Given the description of an element on the screen output the (x, y) to click on. 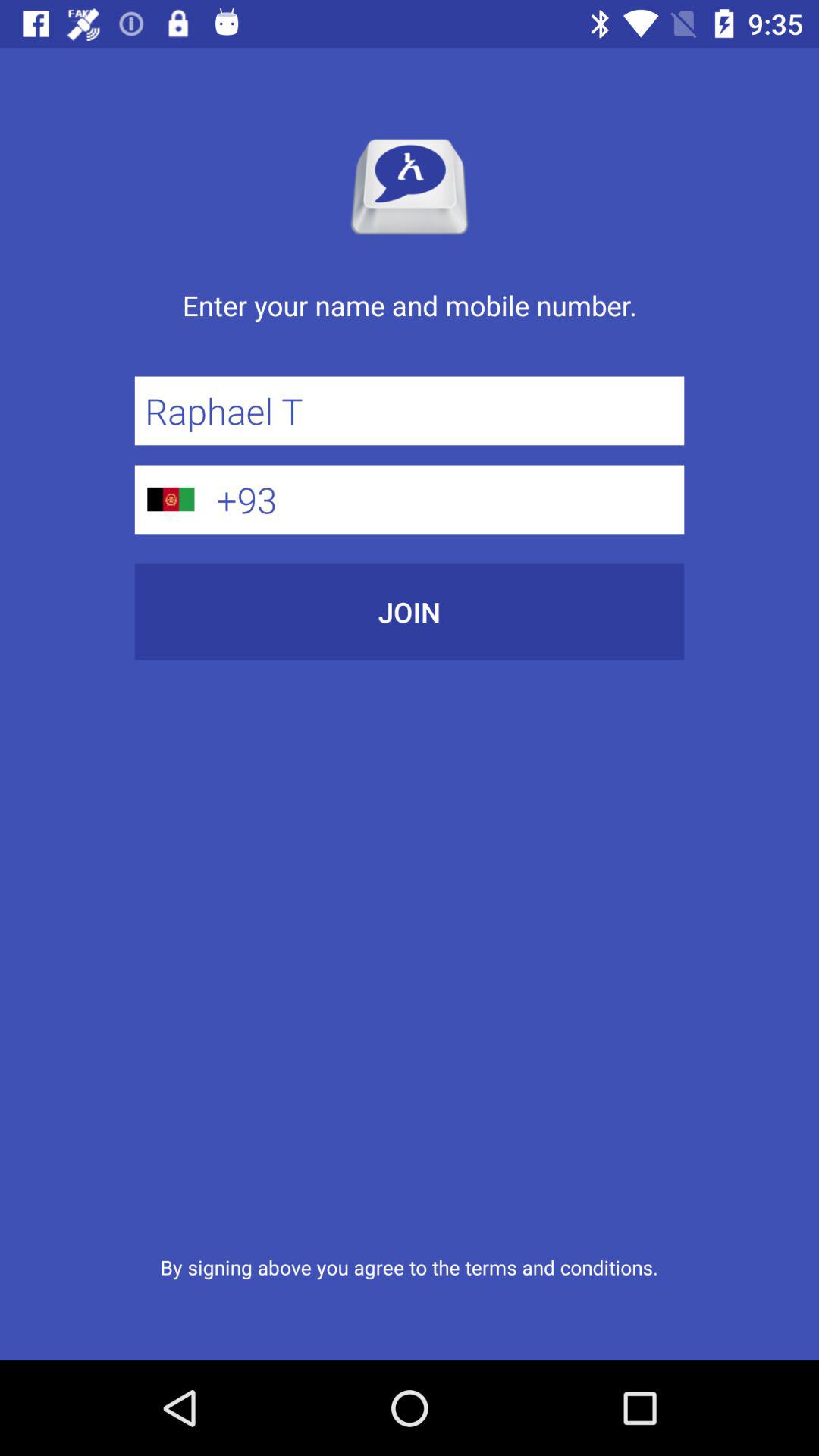
turn off join (409, 611)
